Given the description of an element on the screen output the (x, y) to click on. 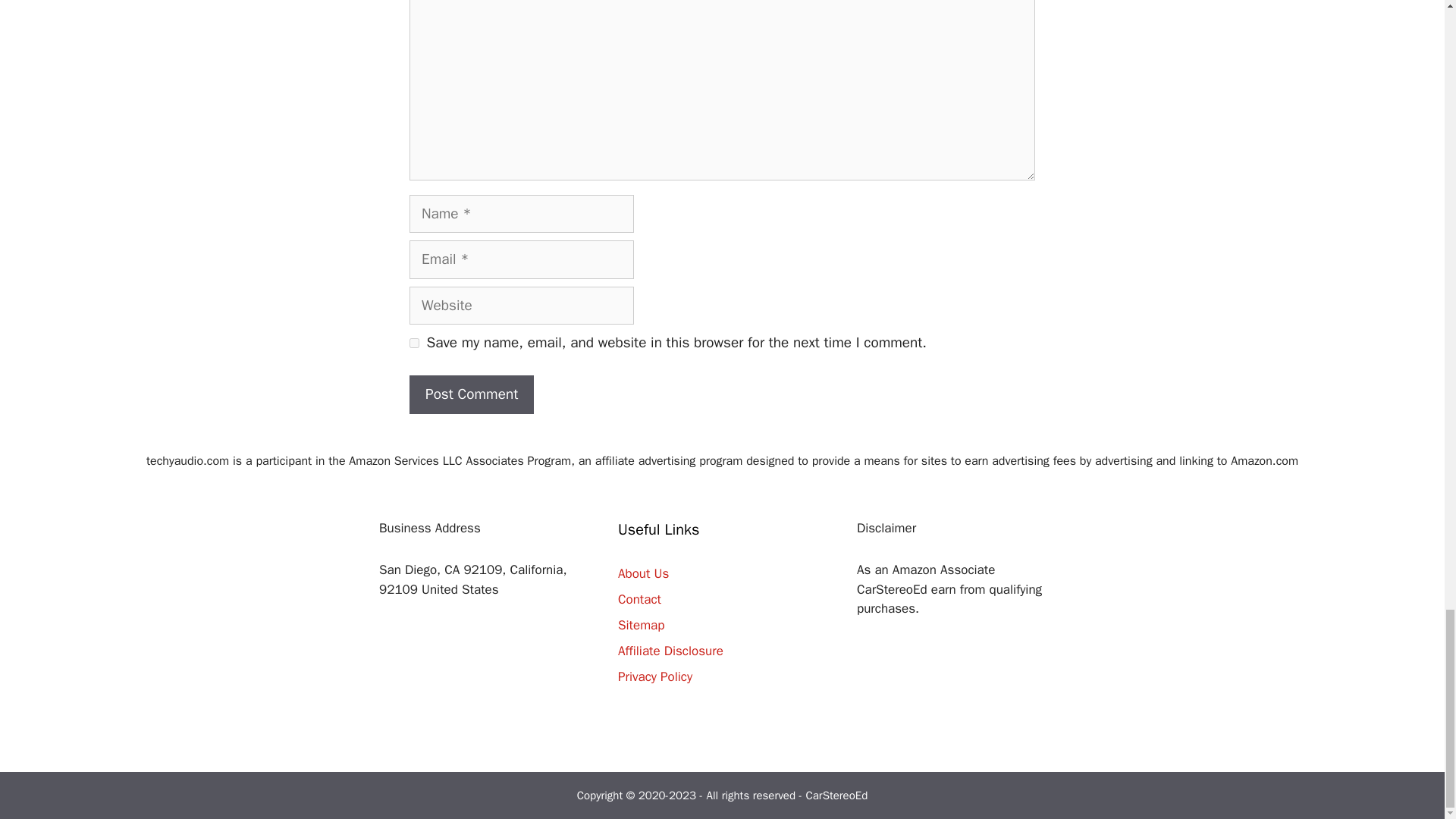
Sitemap (640, 625)
Post Comment (471, 394)
yes (414, 343)
About Us (642, 573)
Privacy Policy (655, 676)
Post Comment (471, 394)
DMCA.com Protection Status (483, 731)
Affiliate Disclosure (670, 650)
Contact (639, 599)
